Given the description of an element on the screen output the (x, y) to click on. 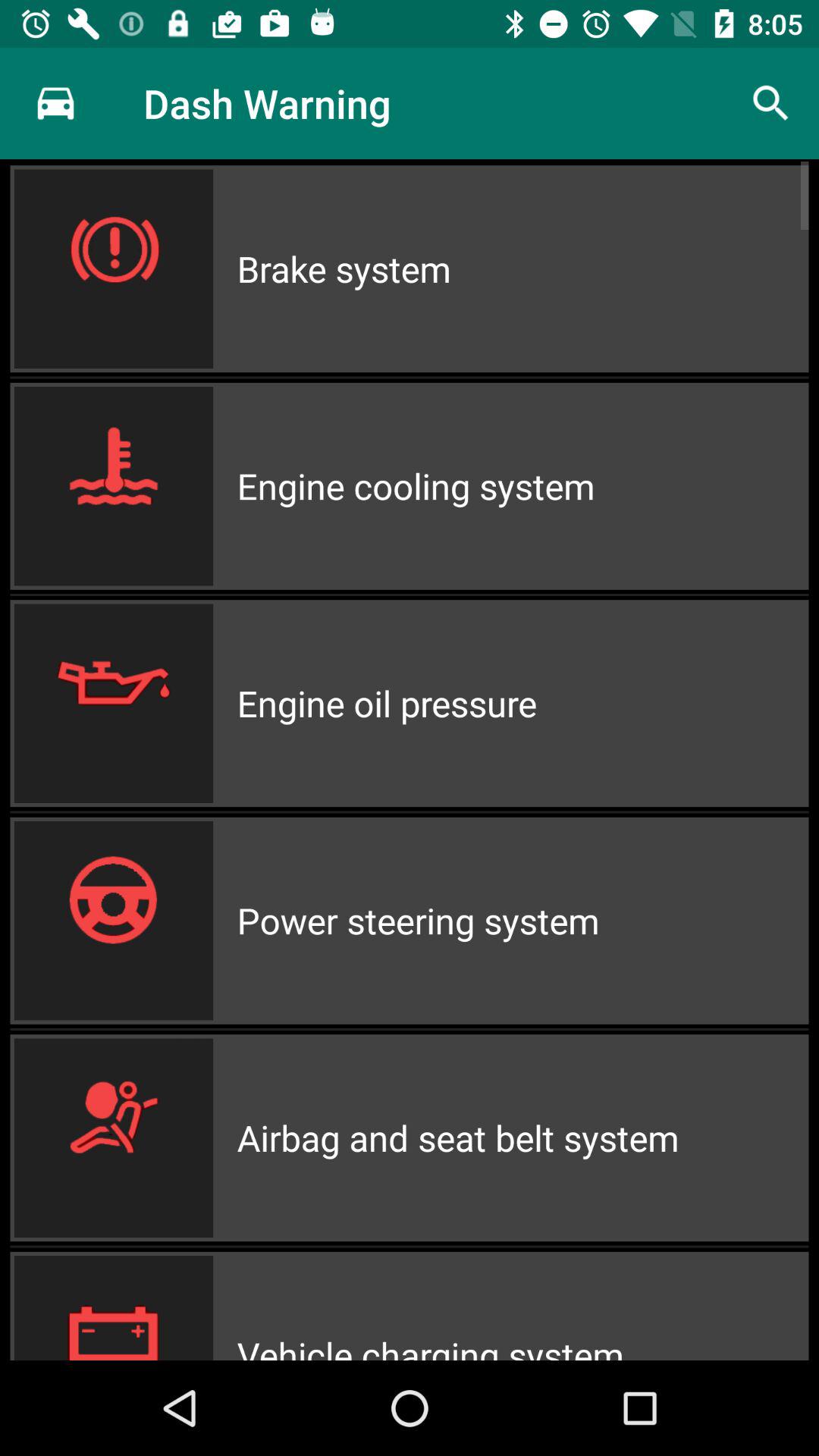
tap the icon below the power steering system item (522, 1137)
